Given the description of an element on the screen output the (x, y) to click on. 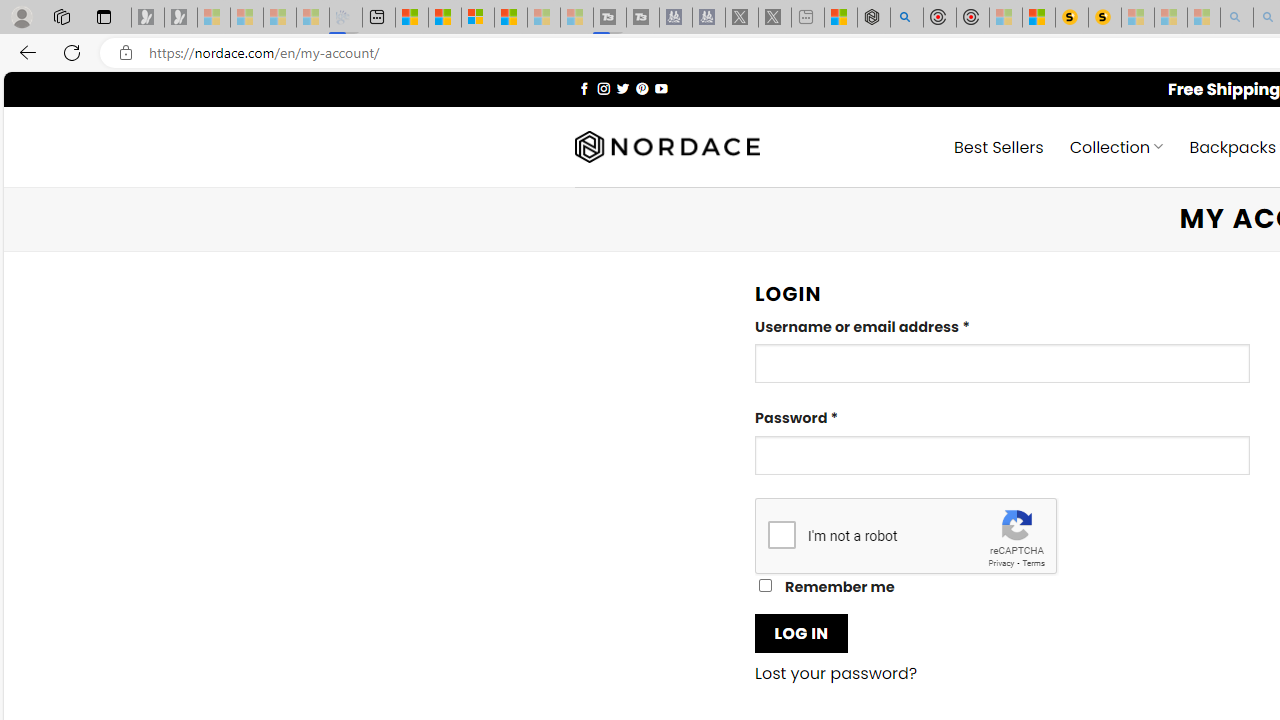
Follow on Pinterest (642, 88)
Streaming Coverage | T3 - Sleeping (609, 17)
Follow on YouTube (661, 88)
Terms (1033, 562)
Privacy (1001, 562)
 Best Sellers (998, 146)
Remember me (765, 585)
